Given the description of an element on the screen output the (x, y) to click on. 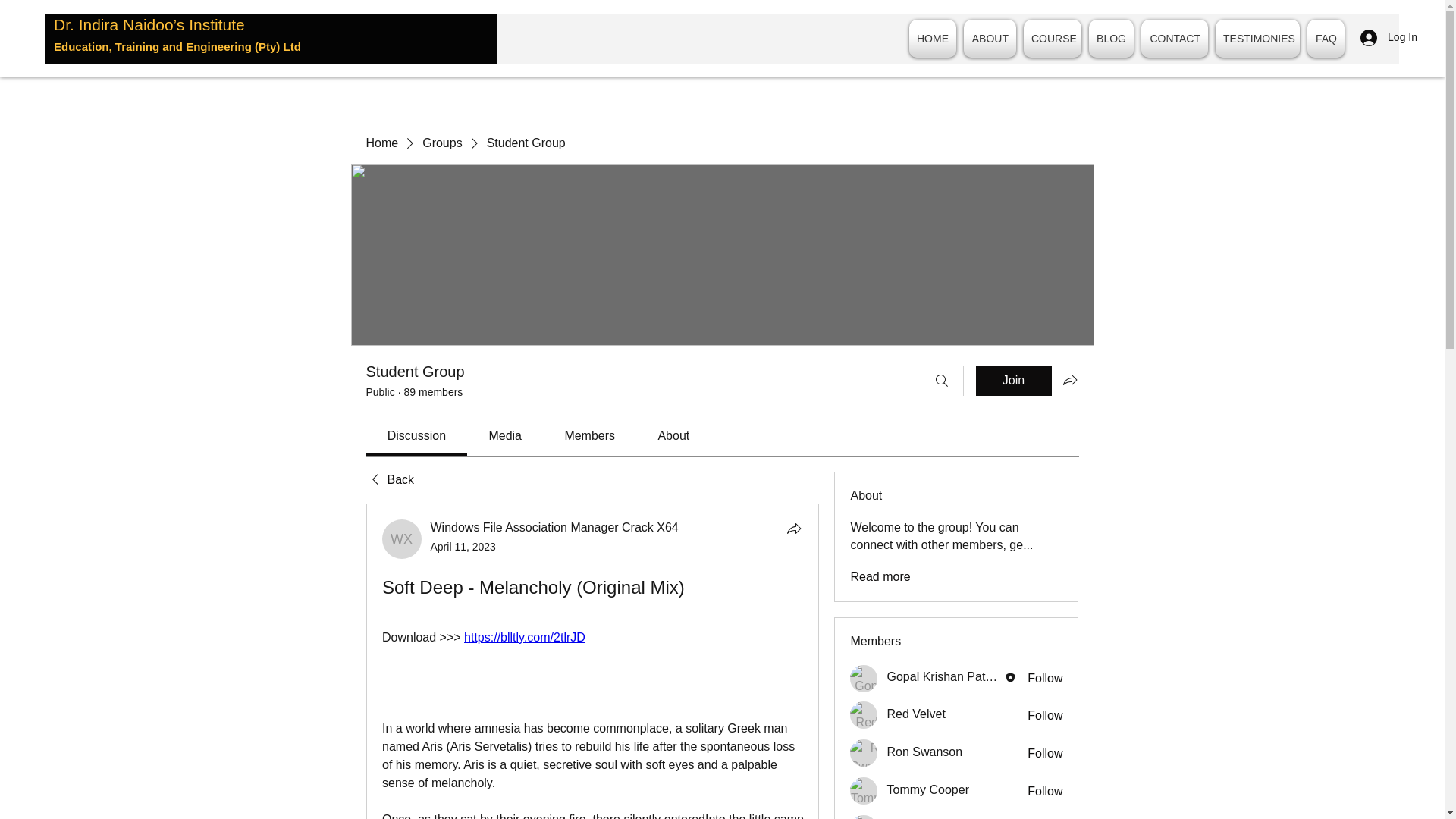
FAQ (1323, 38)
Follow (1044, 678)
Red Velvet (863, 714)
April 11, 2023 (463, 546)
Logan leo (863, 816)
ABOUT (989, 38)
Ron Swanson (863, 752)
COURSE (1052, 38)
Follow (1044, 791)
Gopal Krishan Pathak (945, 676)
Groups (441, 143)
Windows File Association Manager Crack X64 (554, 526)
Tommy Cooper (863, 790)
Home (381, 143)
Follow (1044, 715)
